Given the description of an element on the screen output the (x, y) to click on. 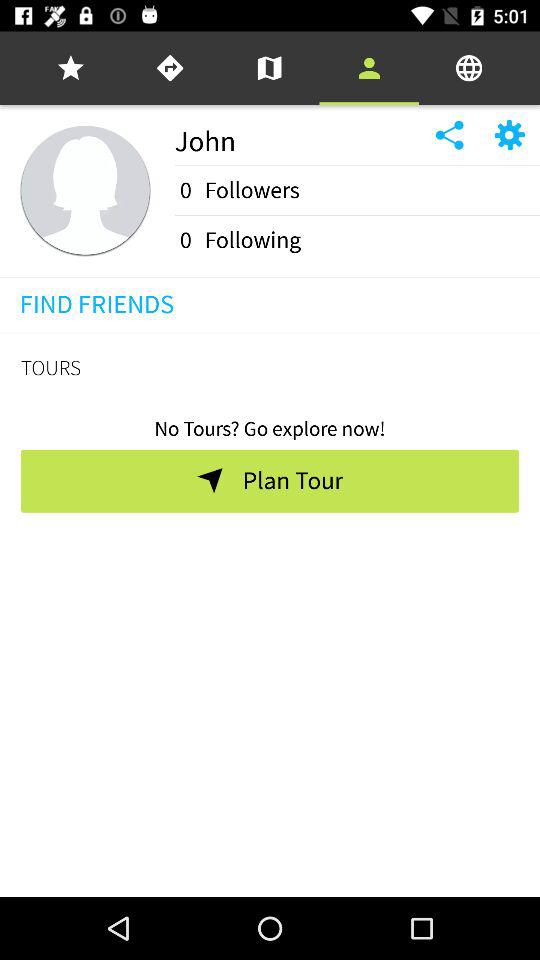
tap icon to the left of john icon (85, 190)
